Given the description of an element on the screen output the (x, y) to click on. 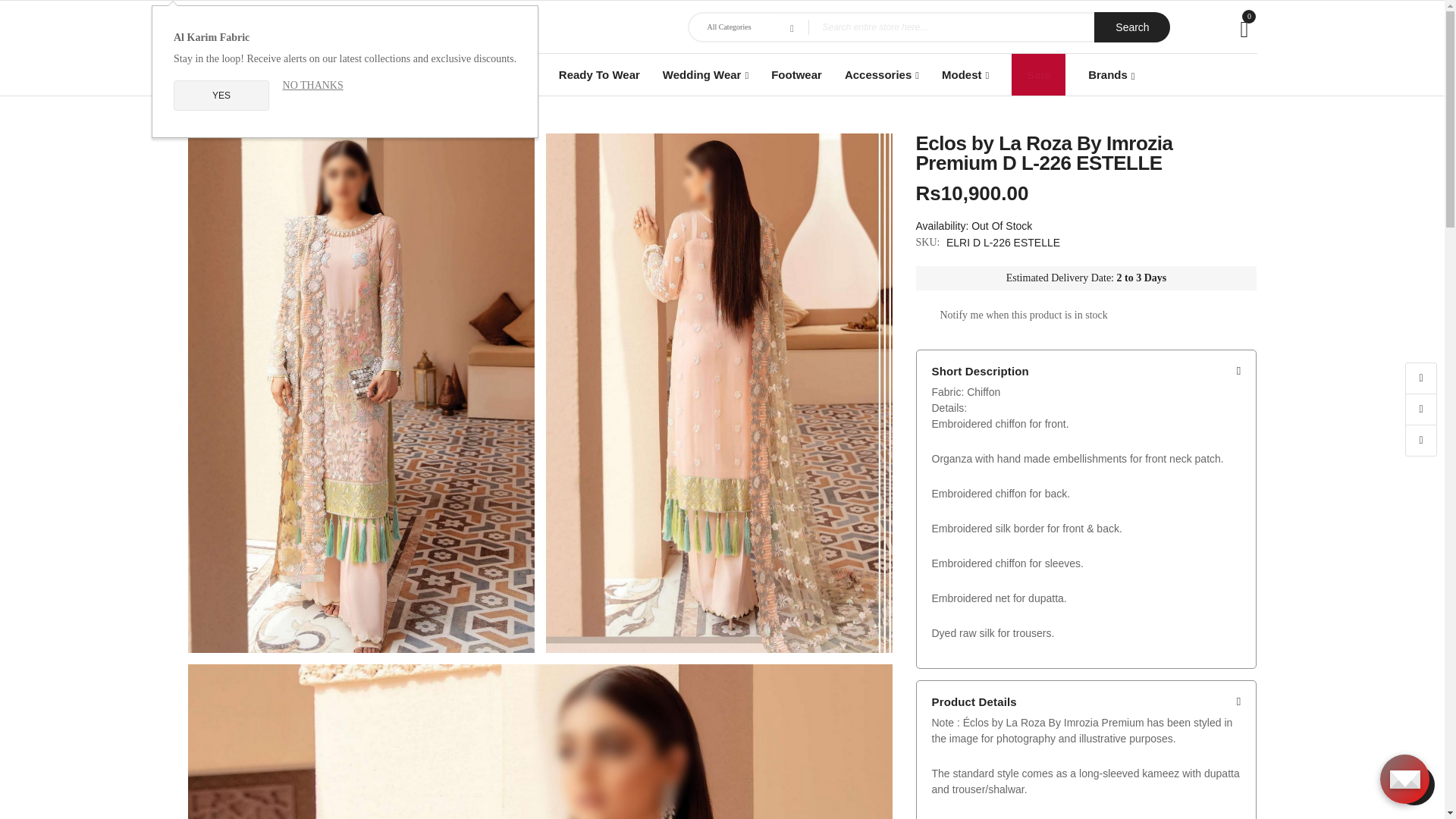
Search (1132, 27)
